Given the description of an element on the screen output the (x, y) to click on. 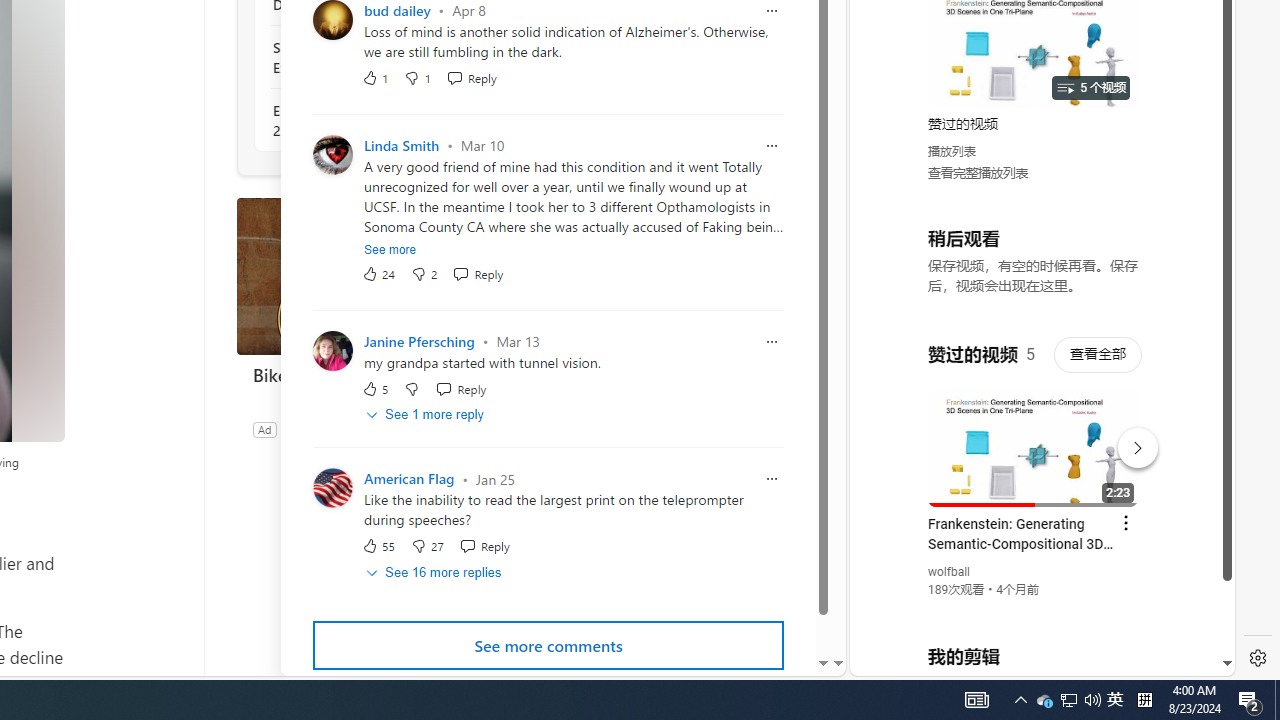
Report comment (771, 479)
you (1034, 609)
bud dailey (397, 10)
Linda Smith (401, 145)
55 Like (378, 546)
Settings (1258, 658)
Sky Blue Bikes (319, 429)
See 16 more replies (434, 573)
